Given the description of an element on the screen output the (x, y) to click on. 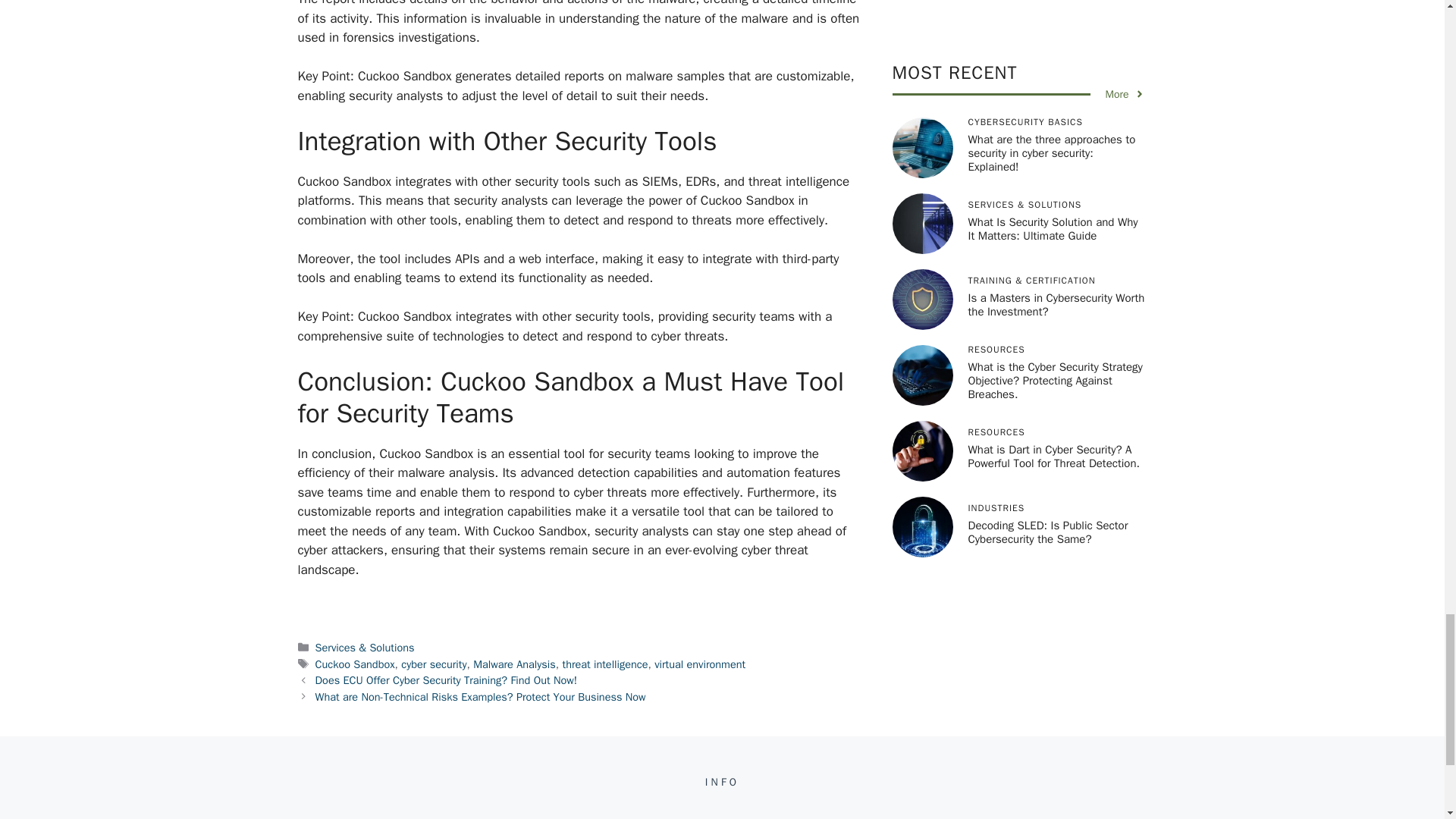
Cuckoo Sandbox (354, 663)
virtual environment (699, 663)
threat intelligence (604, 663)
cyber security (433, 663)
Malware Analysis (514, 663)
Does ECU Offer Cyber Security Training? Find Out Now! (445, 680)
